Given the description of an element on the screen output the (x, y) to click on. 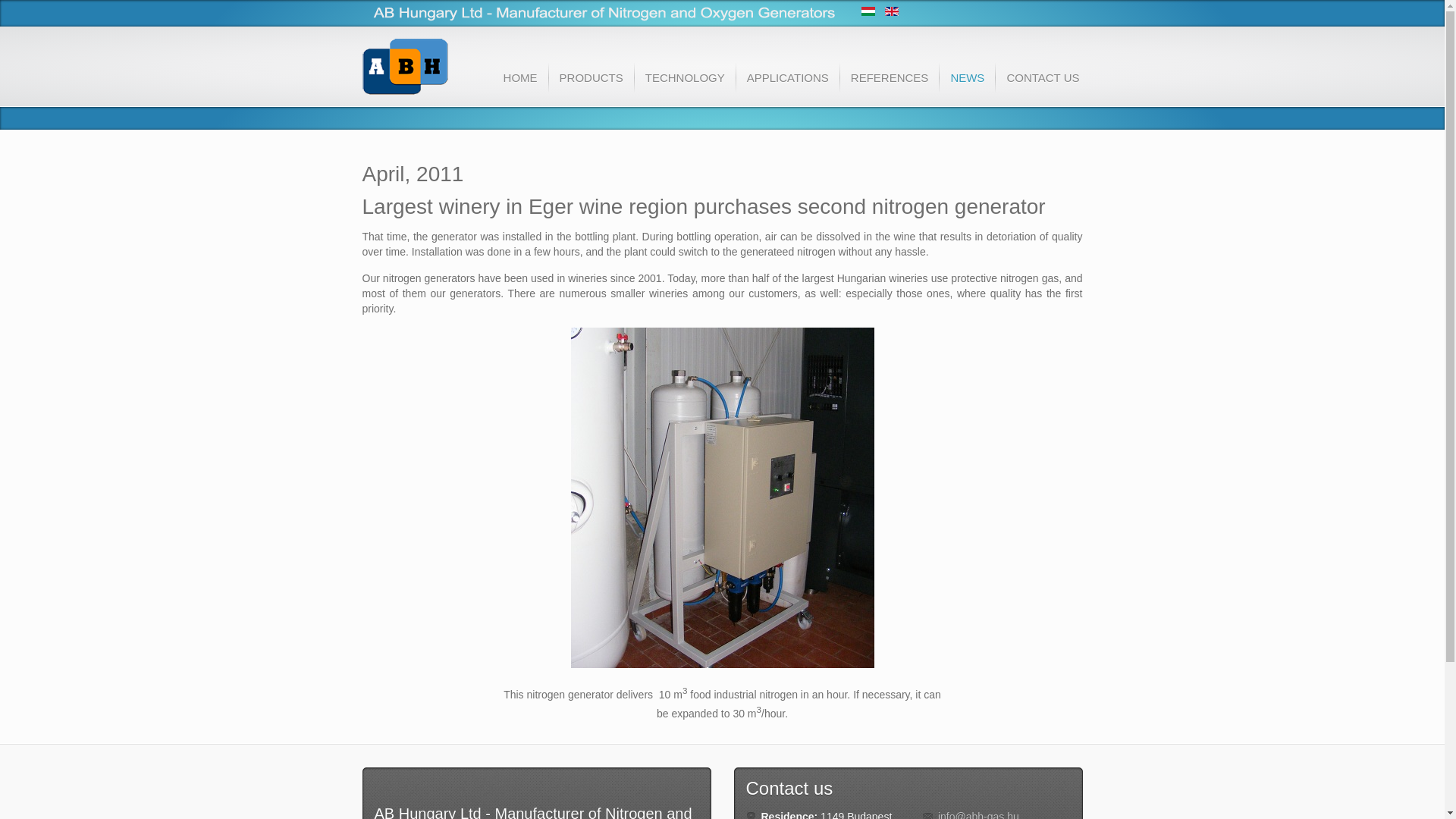
REFERENCES (889, 83)
HOME (520, 83)
CONTACT US (1041, 83)
TECHNOLOGY (684, 83)
NEWS (966, 83)
